Given the description of an element on the screen output the (x, y) to click on. 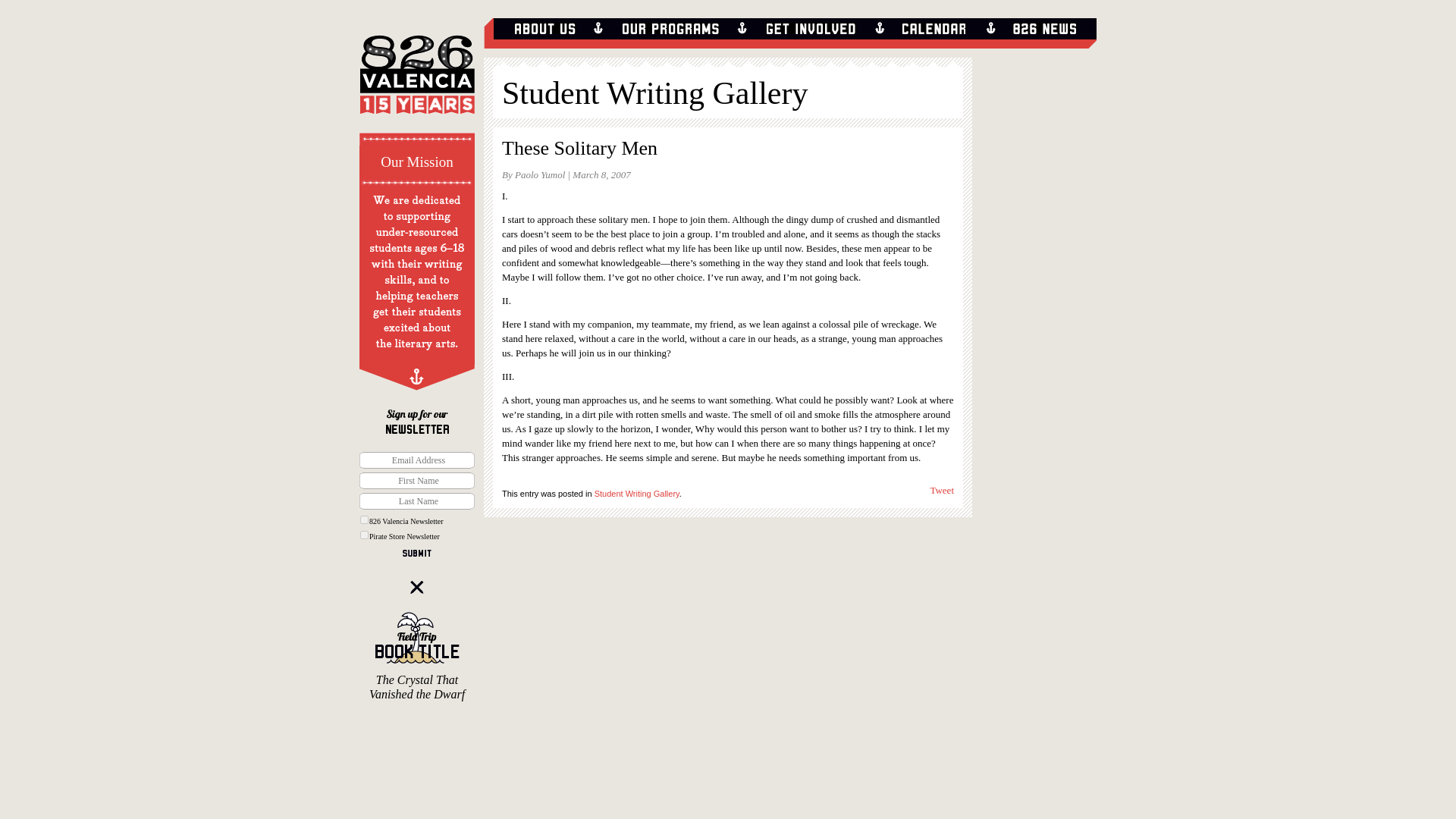
2 (364, 534)
About Us (544, 28)
Student Writing Gallery (636, 492)
826 Valencia (416, 81)
submit (416, 552)
Our Programs (671, 28)
Student Writing Gallery (655, 93)
1 (364, 519)
Get Involved (810, 28)
Tweet (941, 490)
